Given the description of an element on the screen output the (x, y) to click on. 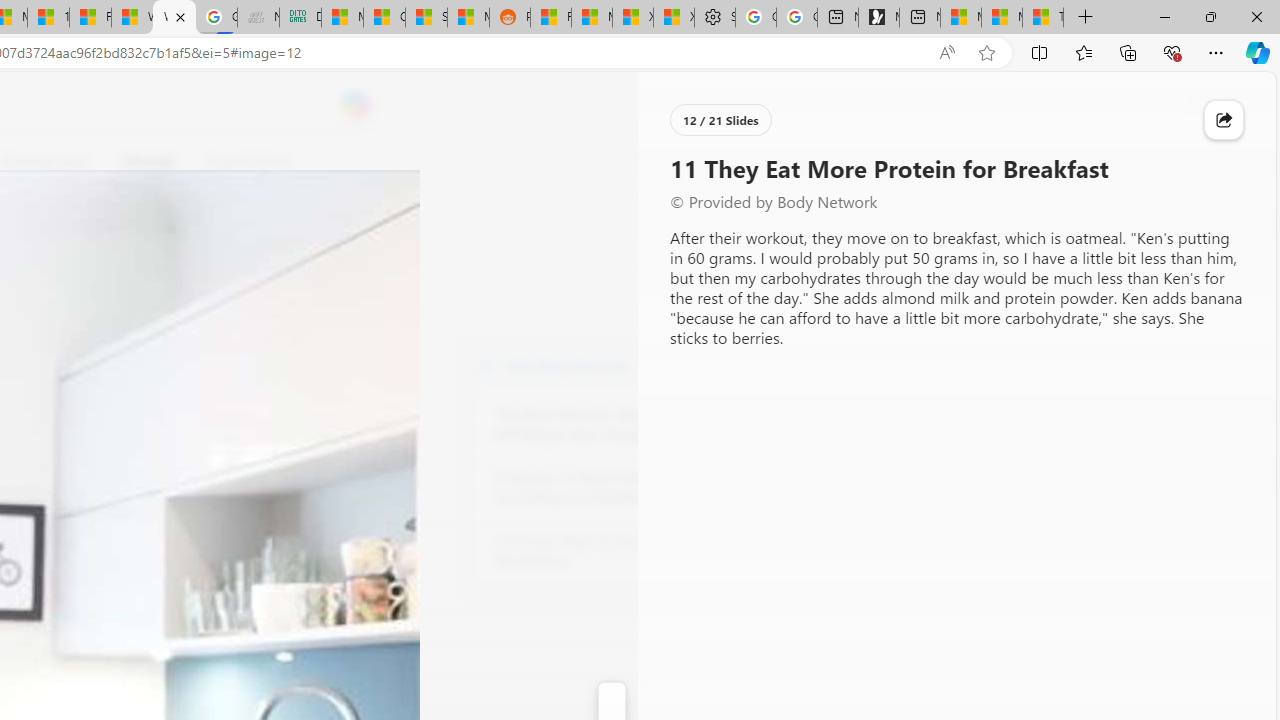
Microsoft rewards (1151, 105)
Entertainment (45, 162)
Visit Body Network website (733, 364)
Stocks - MSN (425, 17)
Share this story (1224, 119)
Go to publisher's site (180, 258)
Food & Drink (240, 162)
R******* | Trusted Community Engagement and Contributions (550, 17)
To get missing image descriptions, open the context menu. (671, 162)
Body Network (486, 364)
